Given the description of an element on the screen output the (x, y) to click on. 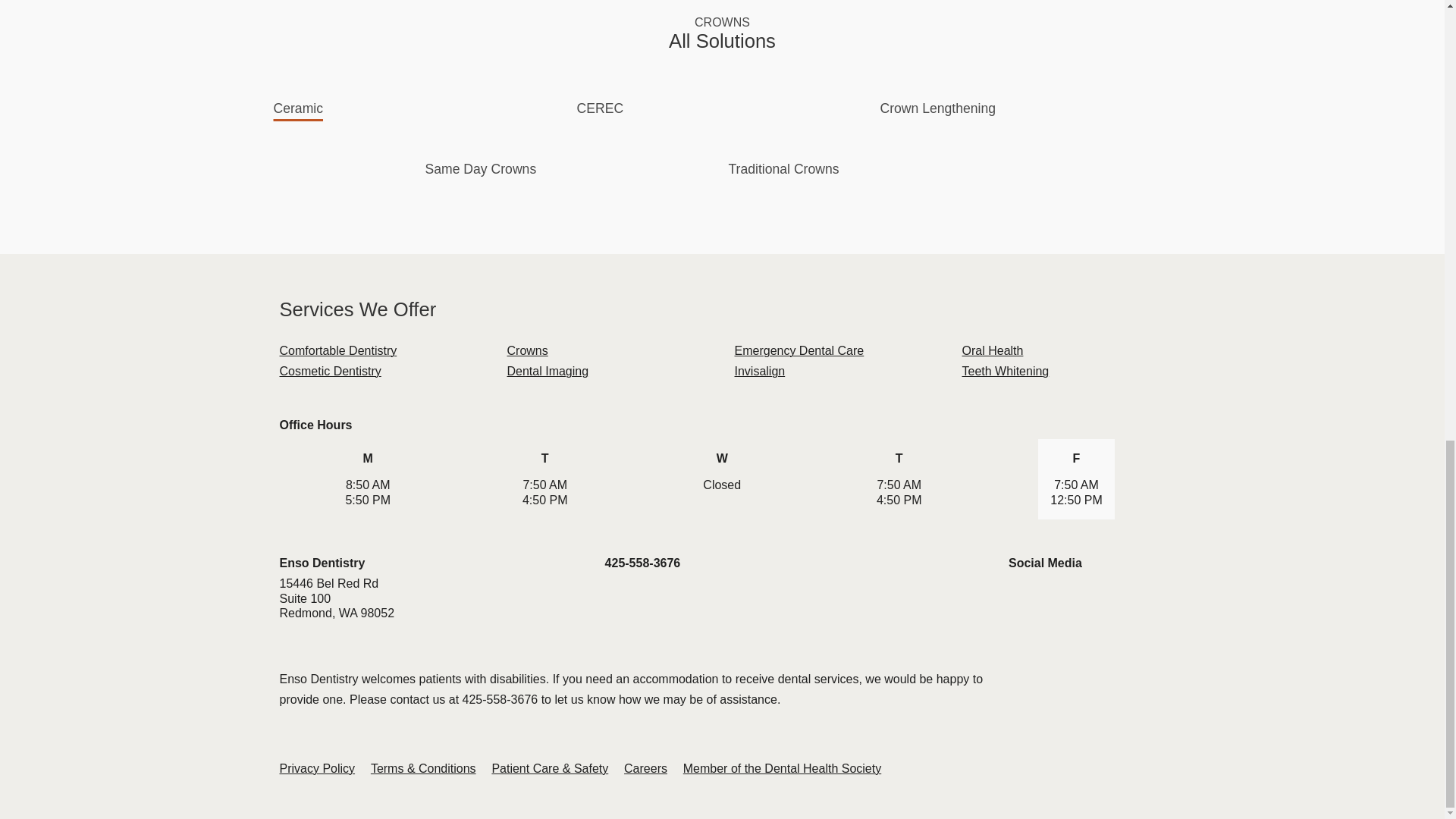
CEREC (599, 107)
Invisalign (758, 370)
Facebook (1020, 595)
Teeth Whitening (1004, 370)
Instagram (1075, 595)
Careers (645, 768)
Oral Health (991, 350)
Same Day Crowns (481, 168)
Ceramic (298, 107)
Privacy Policy (317, 768)
Cosmetic Dentistry (329, 370)
Emergency Dental Care (798, 350)
Comfortable Dentistry (337, 350)
Dental Imaging (547, 370)
Crown Lengthening (937, 107)
